Given the description of an element on the screen output the (x, y) to click on. 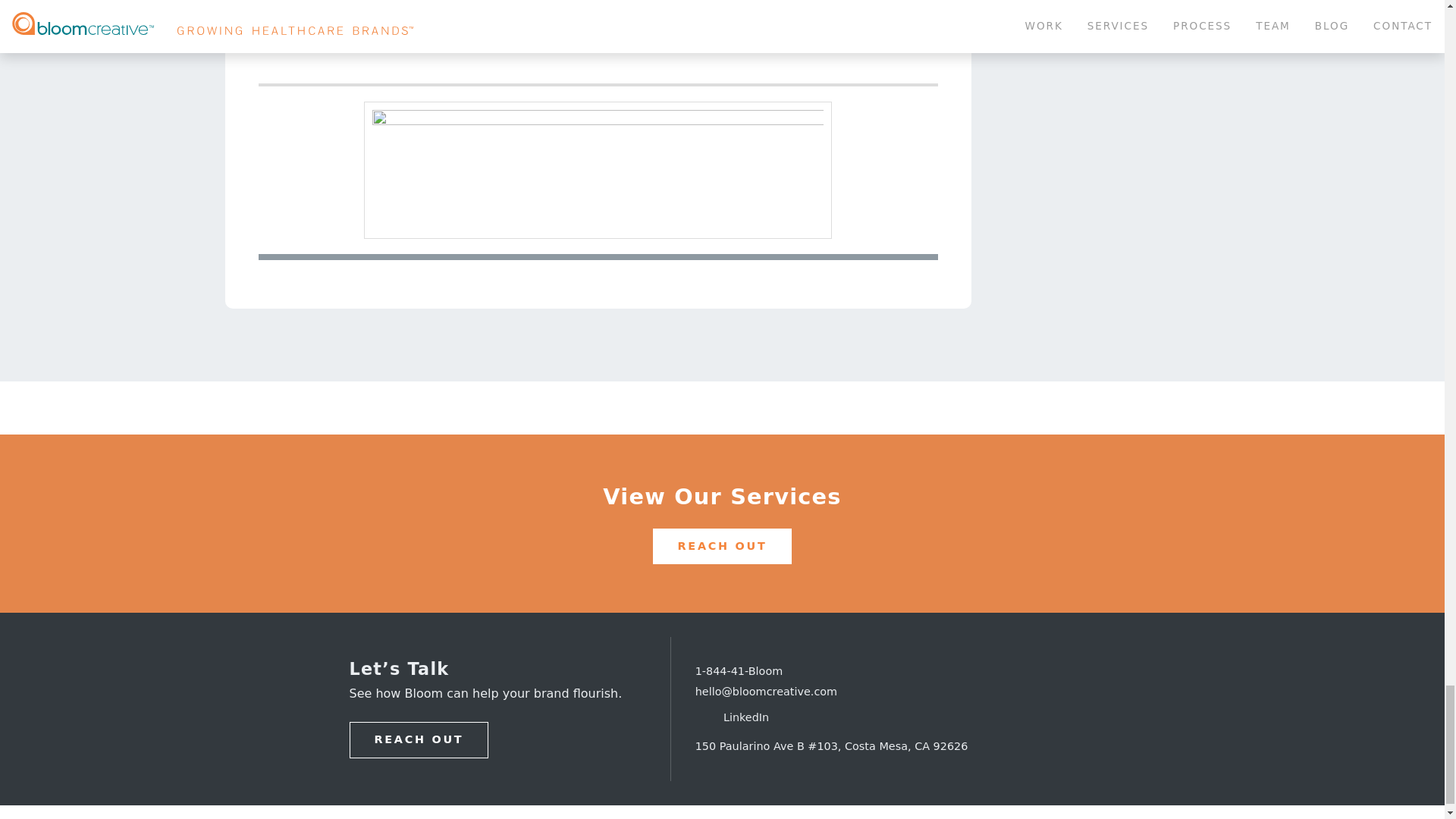
LinkedIn (732, 717)
1-844-41-Bloom (739, 671)
REACH OUT (418, 739)
REACH OUT (722, 546)
